Given the description of an element on the screen output the (x, y) to click on. 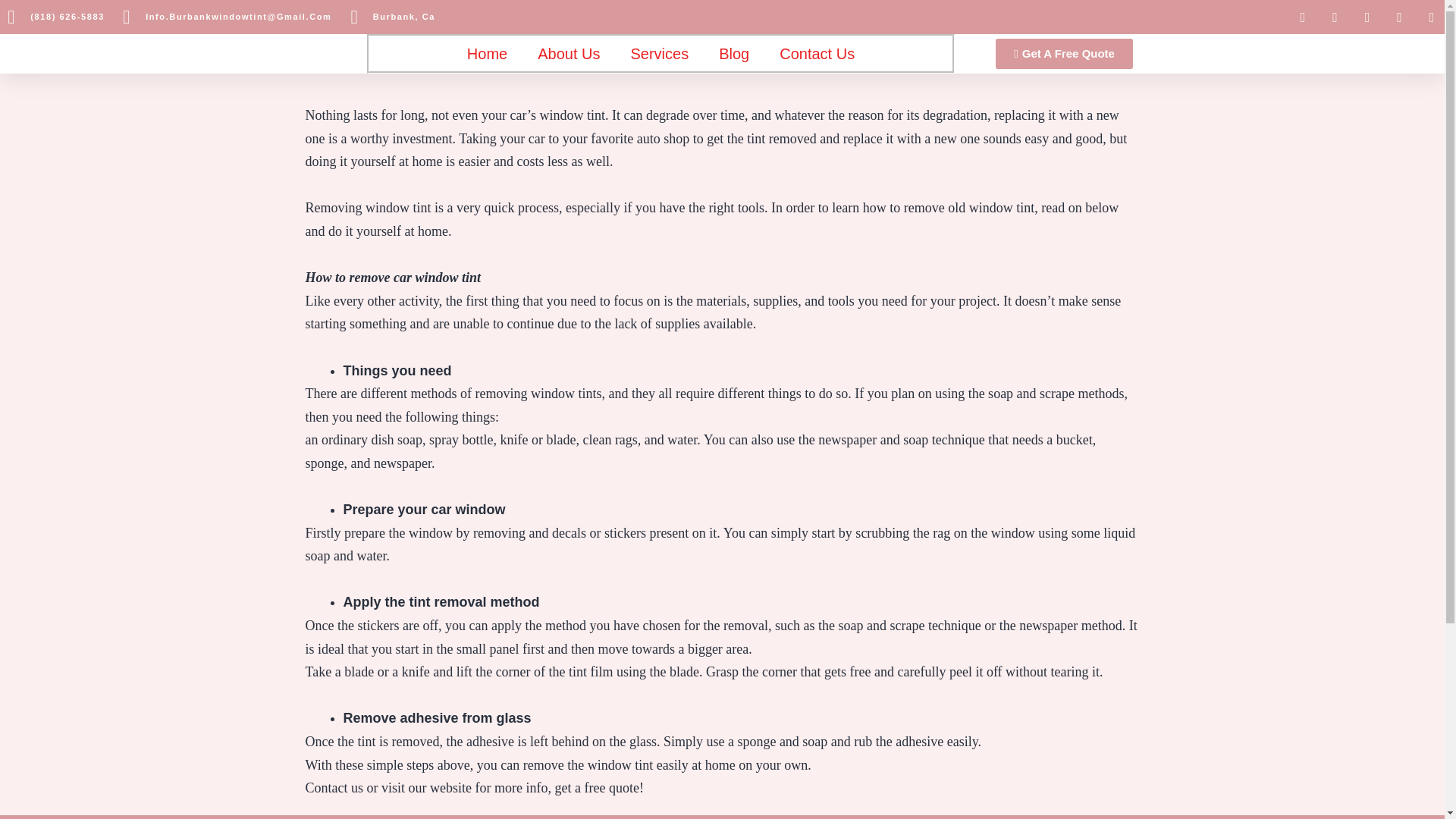
website (450, 787)
Contact Us (816, 53)
Blog (733, 53)
Get A Free Quote (1063, 53)
Contact us (333, 787)
Services (658, 53)
Home (486, 53)
About Us (568, 53)
